Given the description of an element on the screen output the (x, y) to click on. 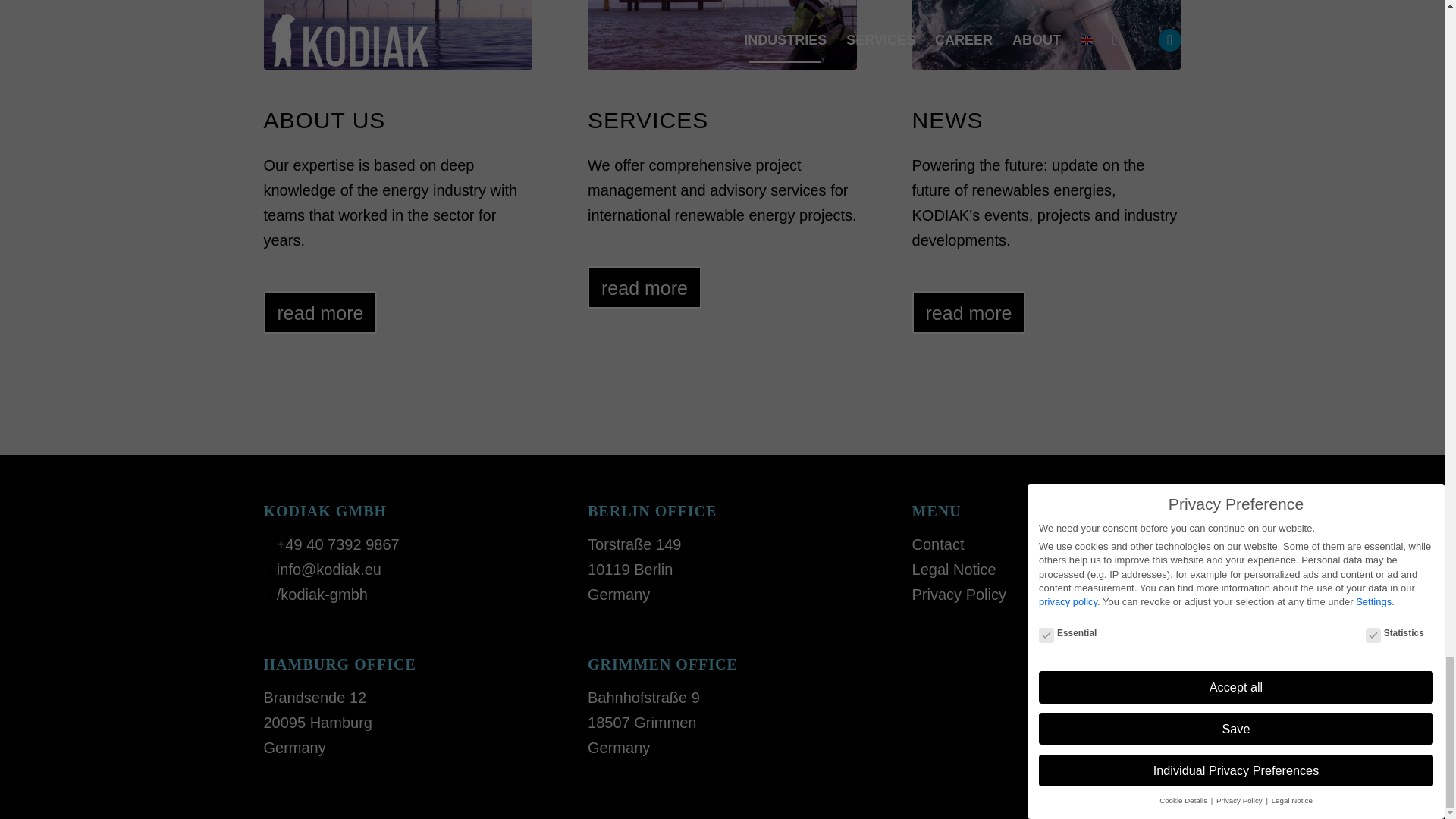
read more (644, 287)
read more (969, 312)
read more (320, 312)
